Given the description of an element on the screen output the (x, y) to click on. 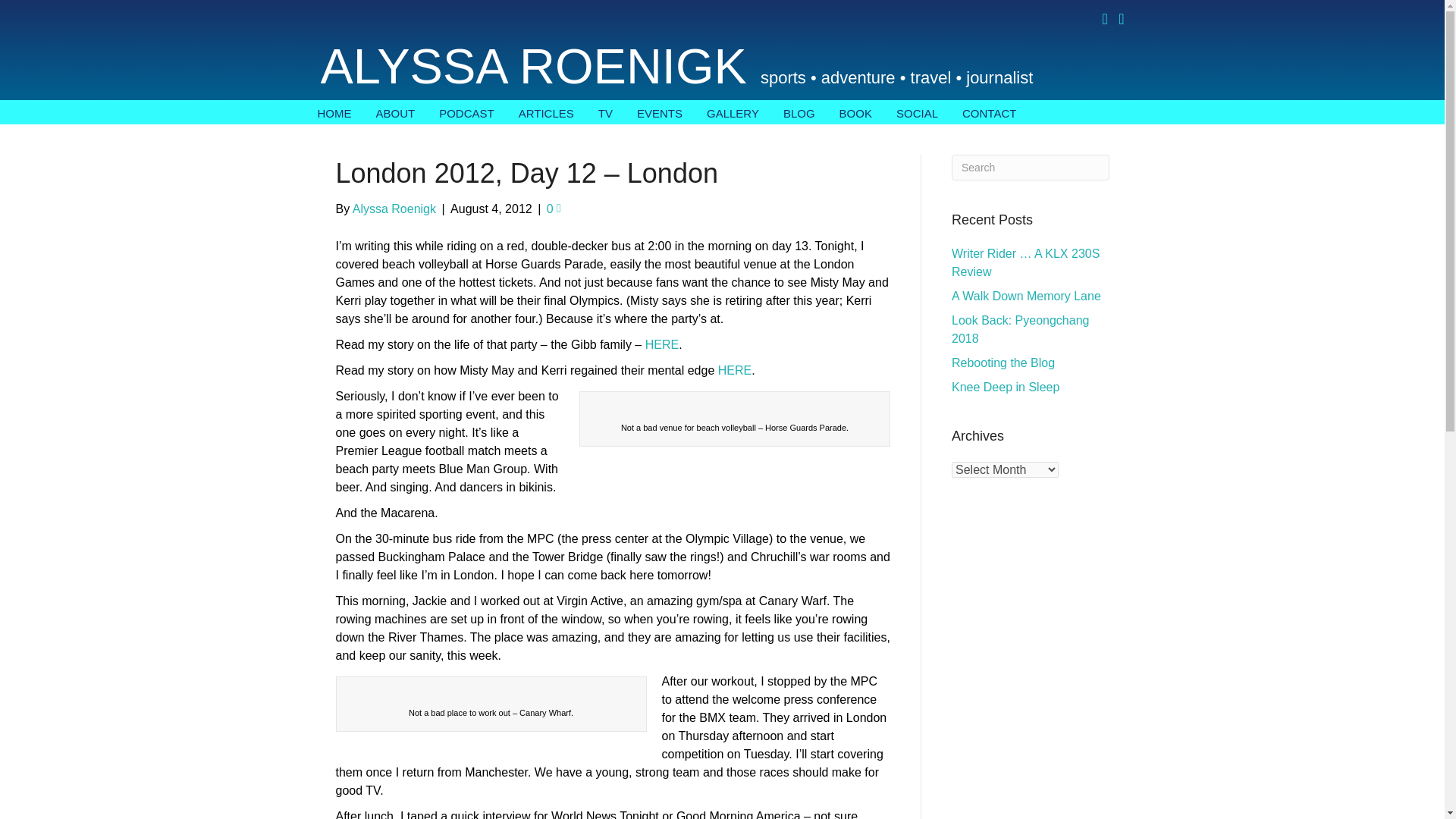
Look Back: Pyeongchang 2018 (1020, 328)
PODCAST (466, 112)
BLOG (799, 112)
HERE (661, 344)
ARTICLES (546, 112)
GALLERY (732, 112)
Knee Deep in Sleep (1005, 386)
SOCIAL (916, 112)
ABOUT (396, 112)
Type and press Enter to search. (1030, 167)
